Given the description of an element on the screen output the (x, y) to click on. 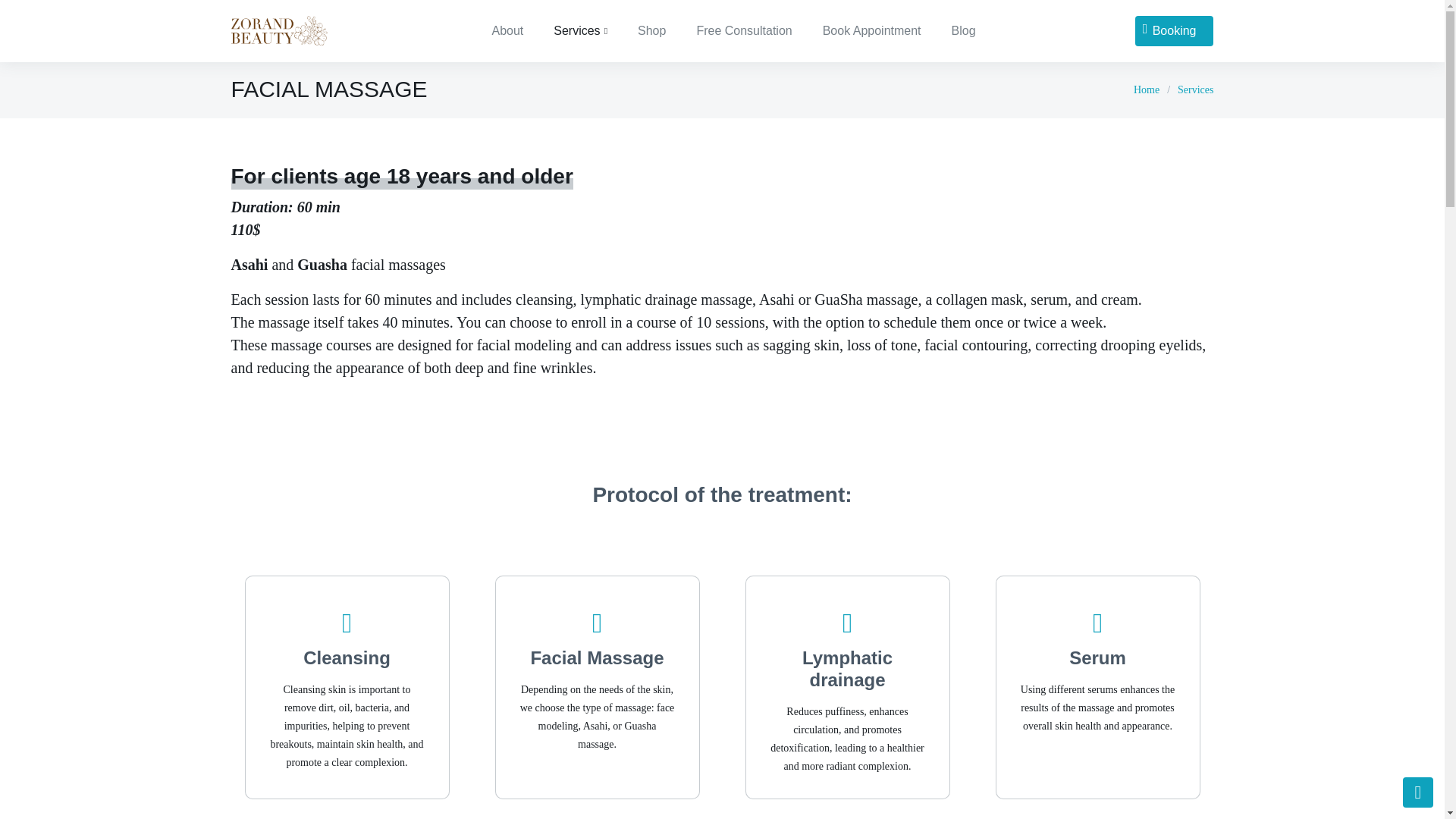
Services (1194, 89)
Booking (1174, 30)
Free Consultation (743, 30)
Home (1146, 89)
About (507, 30)
Shop (652, 30)
Book Appointment (872, 30)
Services (1194, 89)
Home (1146, 89)
Facial Massage (596, 657)
Free Consultation (743, 30)
Book Appointment (872, 30)
Shop (652, 30)
Booking (1174, 30)
Services (580, 30)
